Given the description of an element on the screen output the (x, y) to click on. 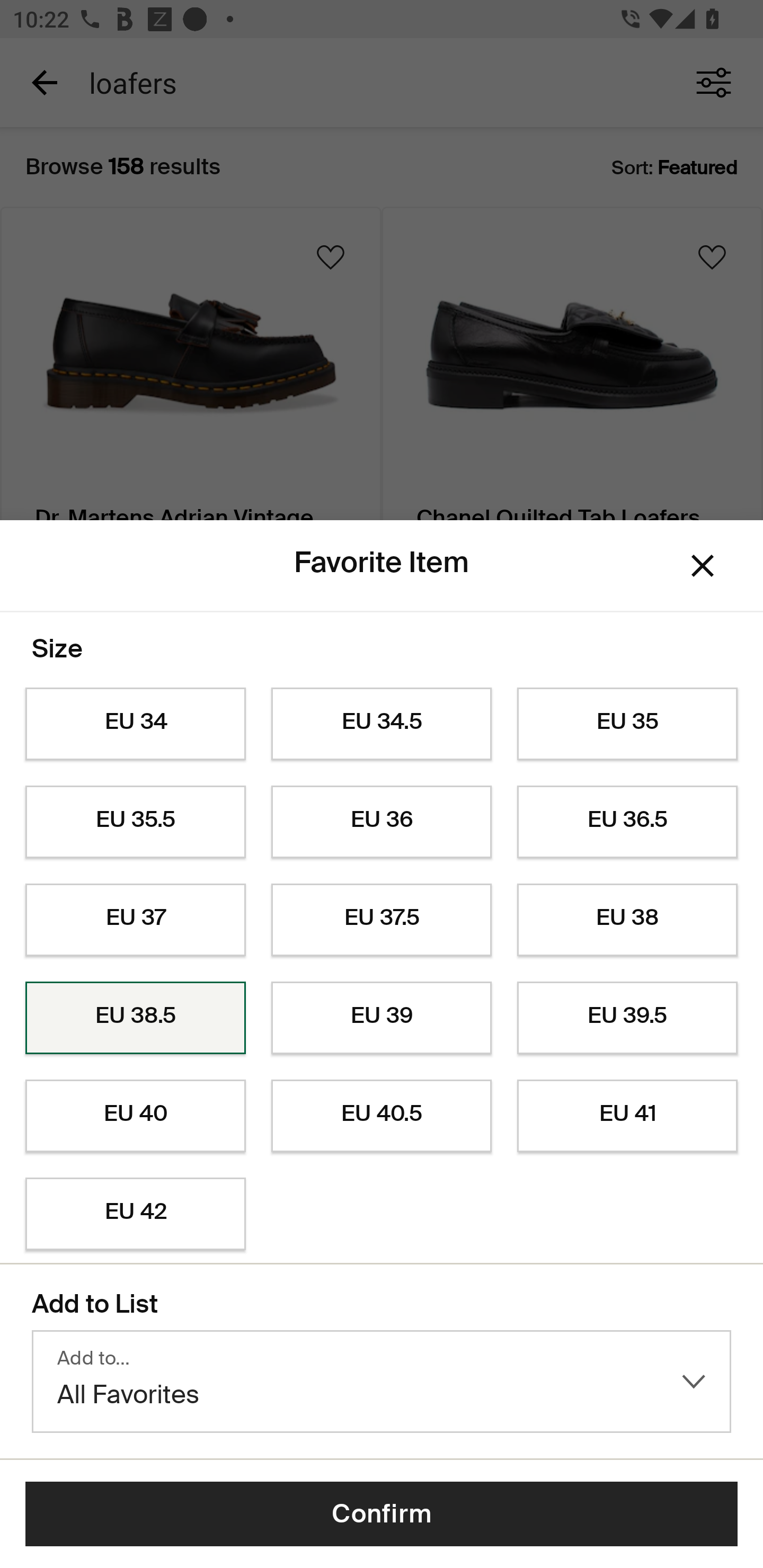
Dismiss (702, 564)
EU 34 (135, 724)
EU 34.5 (381, 724)
EU 35 (627, 724)
EU 35.5 (135, 822)
EU 36 (381, 822)
EU 36.5 (627, 822)
EU 37 (135, 919)
EU 37.5 (381, 919)
EU 38 (627, 919)
EU 38.5 (135, 1018)
EU 39 (381, 1018)
EU 39.5 (627, 1018)
EU 40 (135, 1116)
EU 40.5 (381, 1116)
EU 41 (627, 1116)
EU 42 (135, 1214)
Add to… All Favorites (381, 1381)
Confirm (381, 1513)
